Given the description of an element on the screen output the (x, y) to click on. 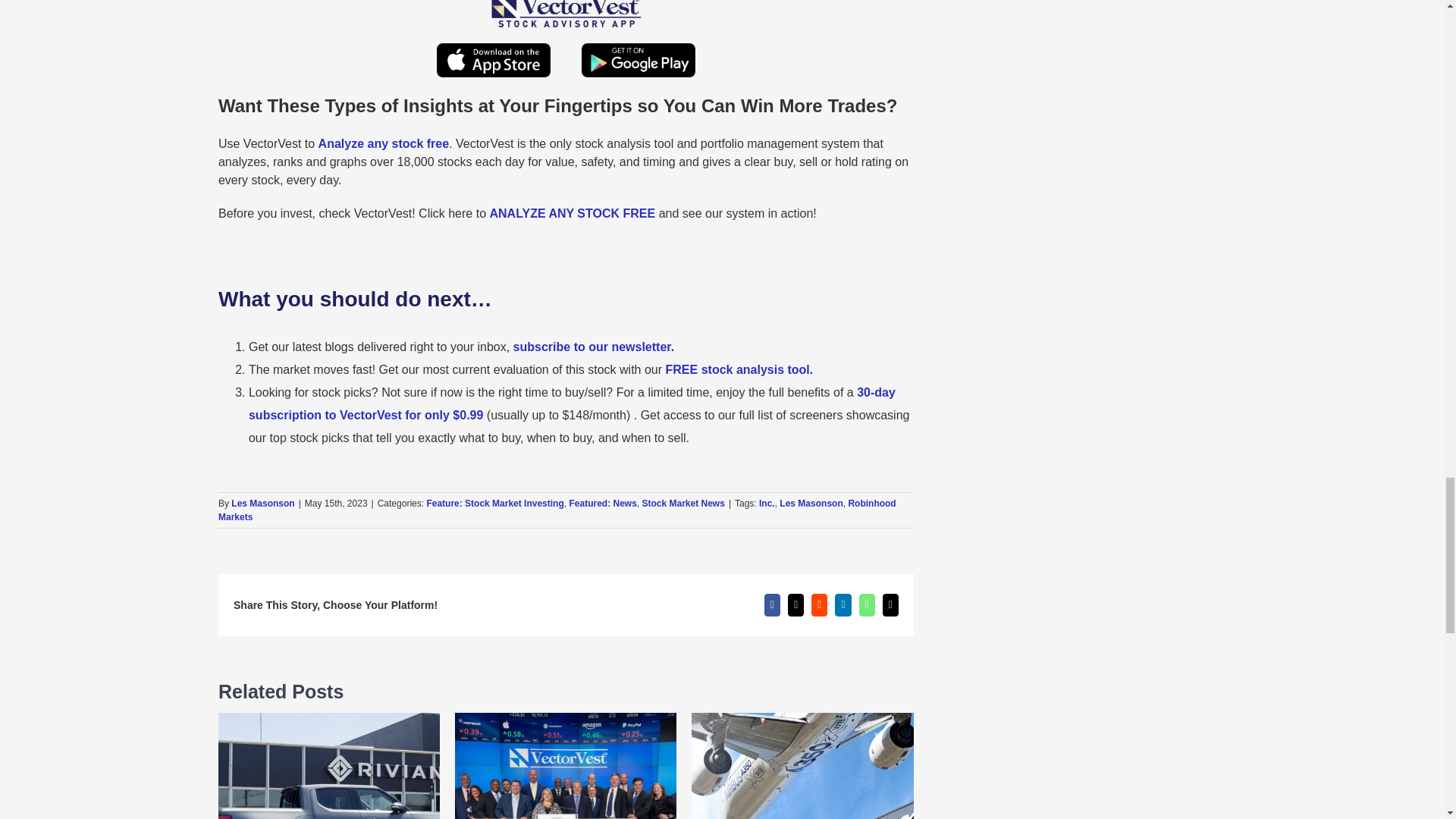
Posts by Les Masonson (262, 502)
